Given the description of an element on the screen output the (x, y) to click on. 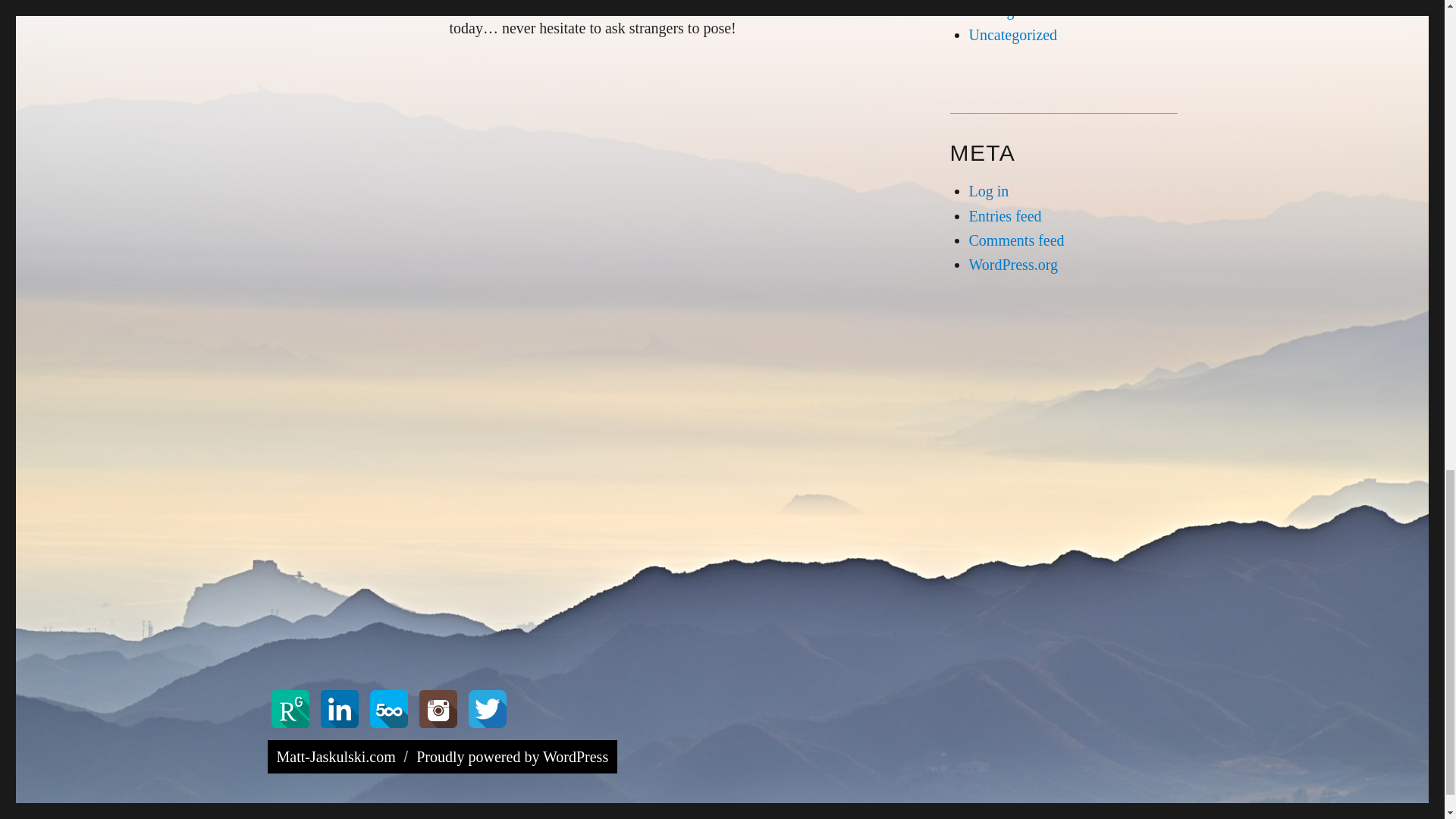
Follow Matt Jaskulski's on Twitter (486, 707)
See Matt Jaskulski's best photos on 500px (389, 707)
Matt Jaskulski's profile and publications on ResearchGate (290, 707)
Log in (989, 190)
Uncategorized (1013, 34)
Surfing (991, 10)
Connect with Matt Jaskulski via LinkedIn (341, 707)
Entries feed (1005, 216)
